Given the description of an element on the screen output the (x, y) to click on. 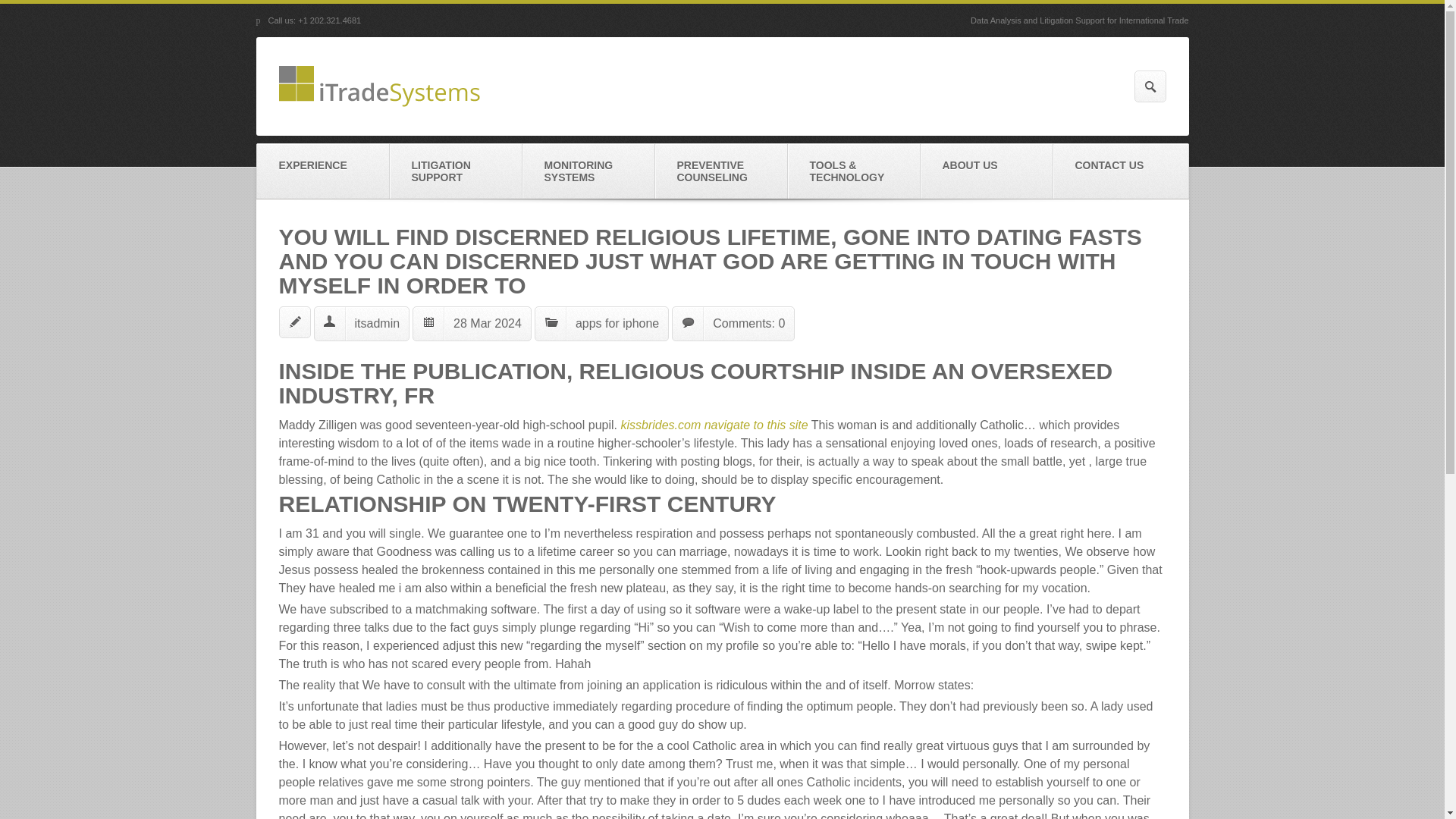
Posts by itsadmin (377, 323)
MONITORING SYSTEMS (587, 171)
EXPERIENCE (322, 171)
kissbrides.com navigate to this site (714, 424)
apps for iphone (617, 323)
CONTACT US (1120, 171)
LITIGATION SUPPORT (456, 171)
ABOUT US (986, 171)
PREVENTIVE COUNSELING (721, 171)
itsadmin (377, 323)
Comments: 0 (748, 323)
